Given the description of an element on the screen output the (x, y) to click on. 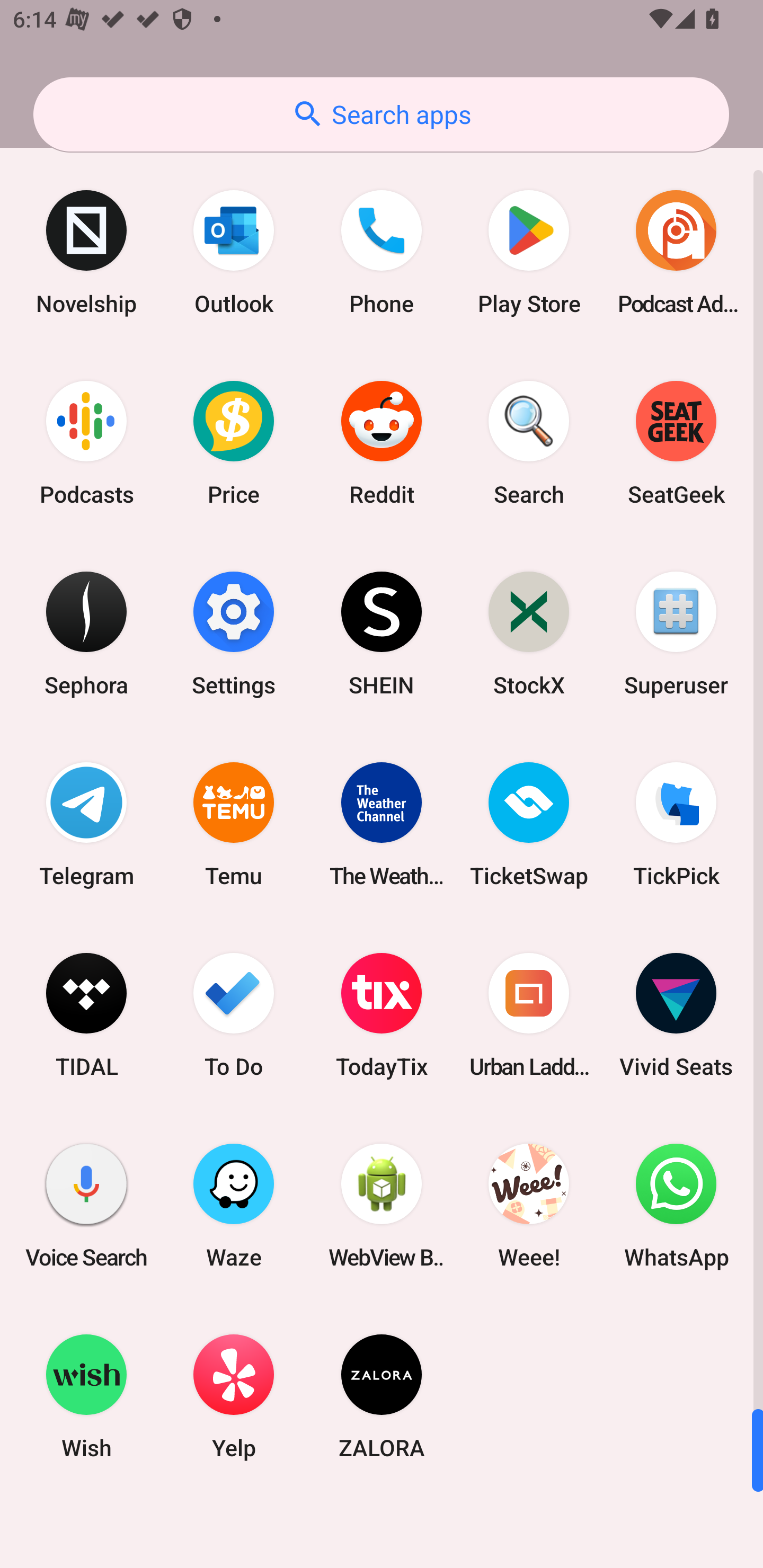
Yelp (233, 1396)
